Given the description of an element on the screen output the (x, y) to click on. 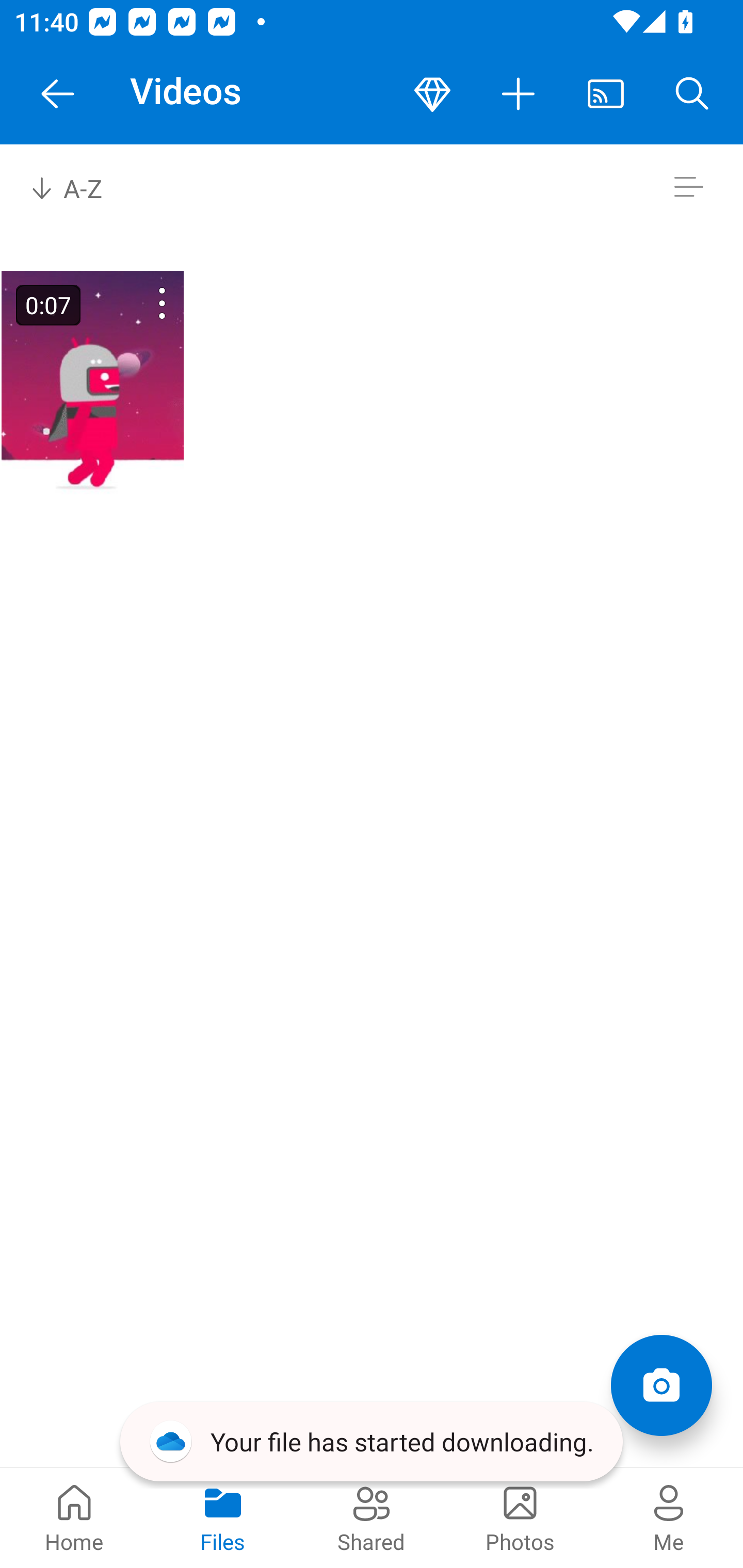
Navigate Up (57, 93)
Cast. Disconnected (605, 93)
Premium button (432, 93)
More actions button (518, 93)
Search button (692, 93)
A-Z Sort by combo box, sort by name, A to Z (80, 187)
Switch to list view (688, 187)
VID_20240428_112341 commands (136, 303)
Add items Scan (660, 1385)
Home pivot Home (74, 1517)
Shared pivot Shared (371, 1517)
Photos pivot Photos (519, 1517)
Me pivot Me (668, 1517)
